Given the description of an element on the screen output the (x, y) to click on. 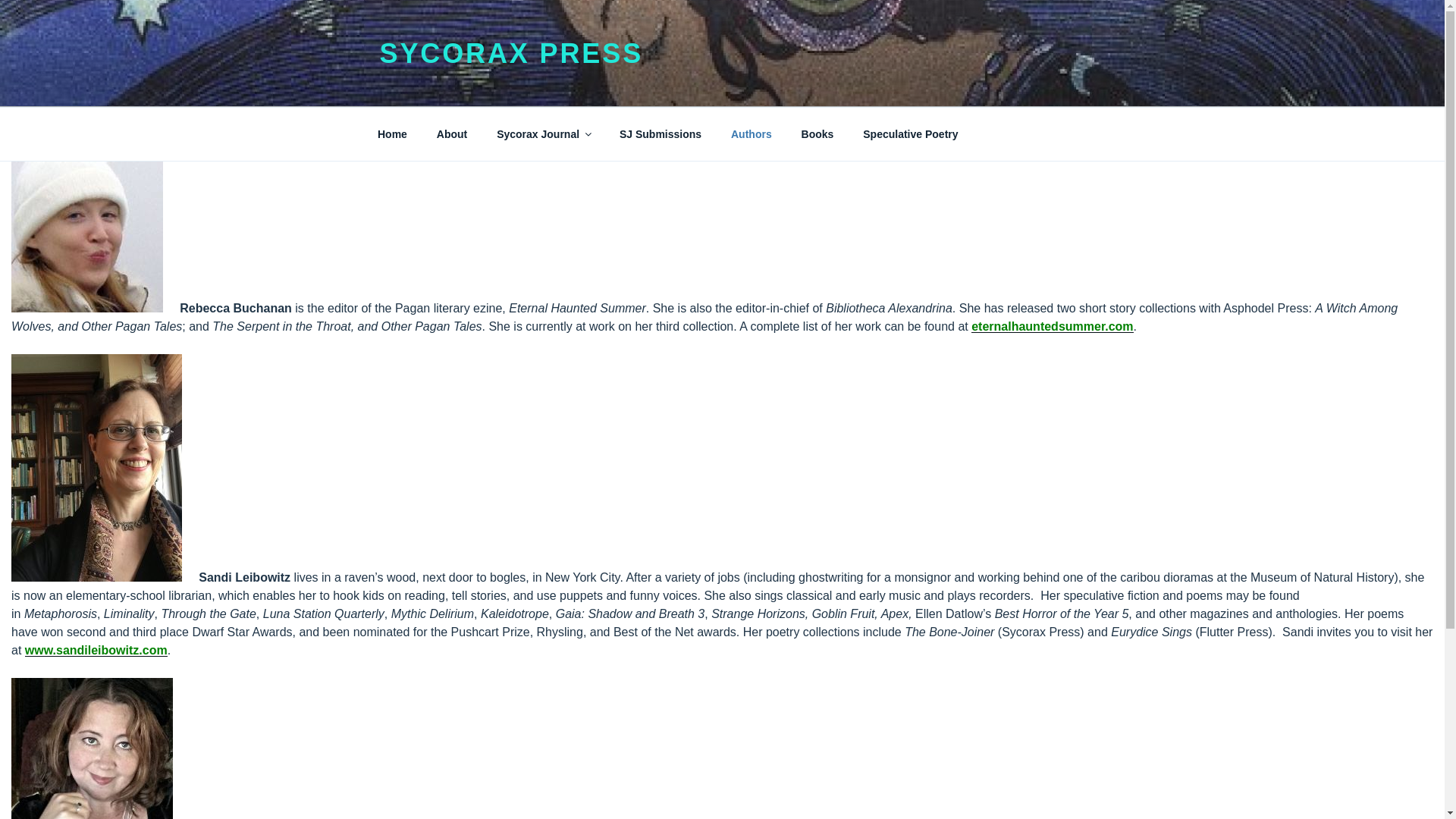
Home (392, 133)
Sycorax Journal (543, 133)
SYCORAX PRESS (510, 52)
About (451, 133)
